Given the description of an element on the screen output the (x, y) to click on. 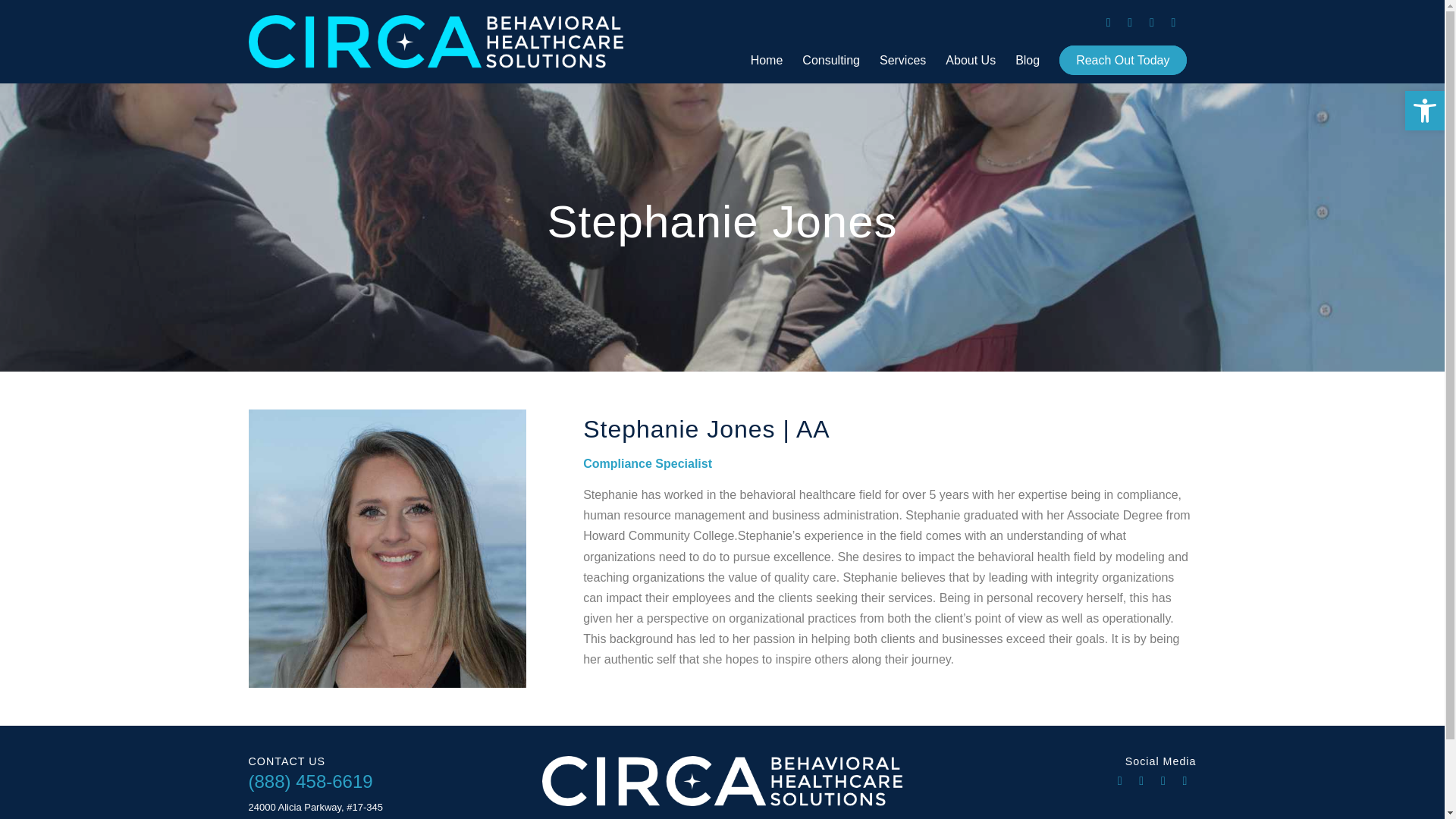
Linkedin (1184, 780)
instagram (1129, 22)
linkedin (1184, 780)
Facebook (1108, 22)
Accessibility Tools (1424, 110)
circa-logo-2023 (436, 41)
Instagram (1129, 22)
youtube (1151, 22)
linkedin (1173, 22)
instagram (1141, 780)
